Given the description of an element on the screen output the (x, y) to click on. 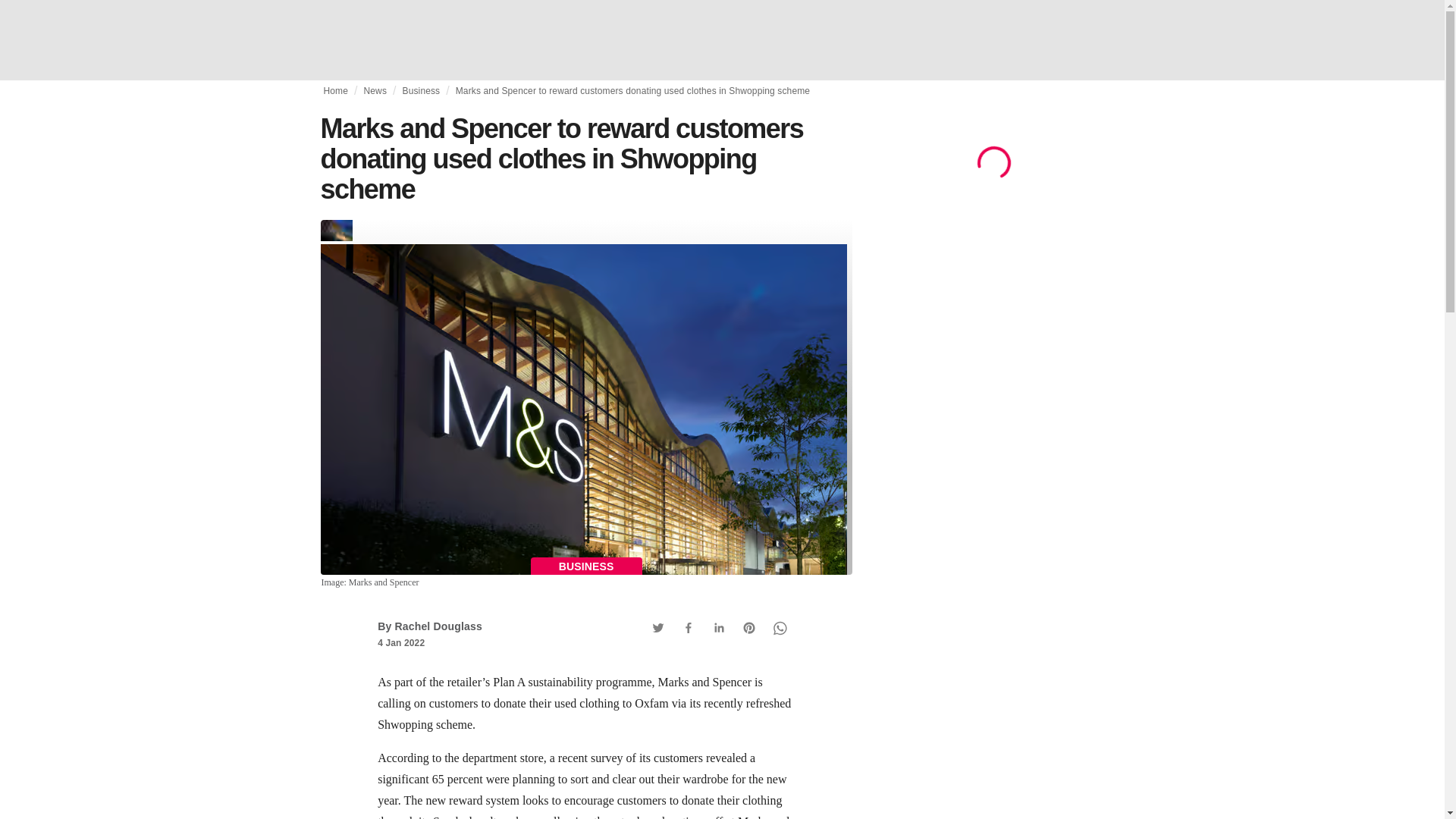
By Rachel Douglass (429, 625)
Home (335, 90)
News (375, 90)
Business (420, 90)
